Given the description of an element on the screen output the (x, y) to click on. 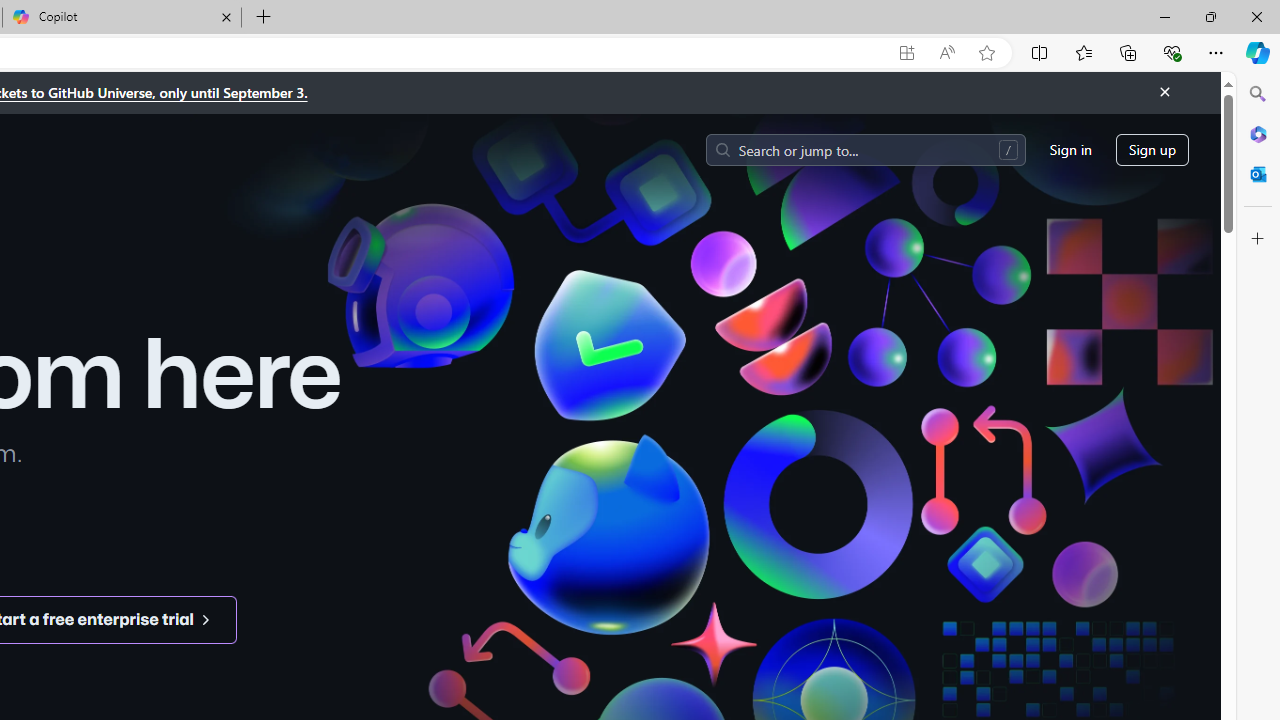
Sign up (1152, 149)
Class: octicon arrow-symbol-mktg (205, 619)
